Given the description of an element on the screen output the (x, y) to click on. 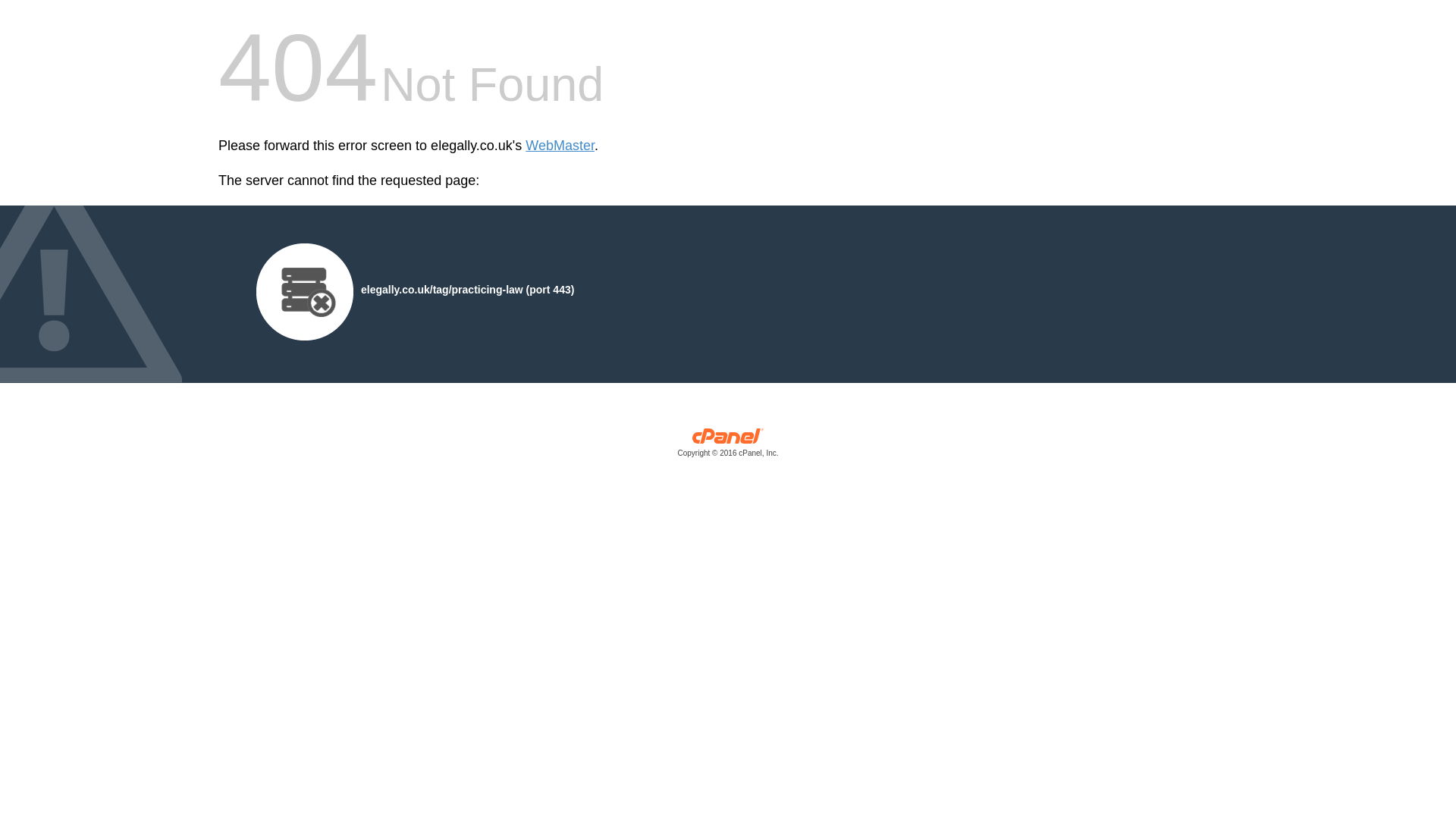
cPanel, Inc. (727, 446)
WebMaster (559, 145)
